Given the description of an element on the screen output the (x, y) to click on. 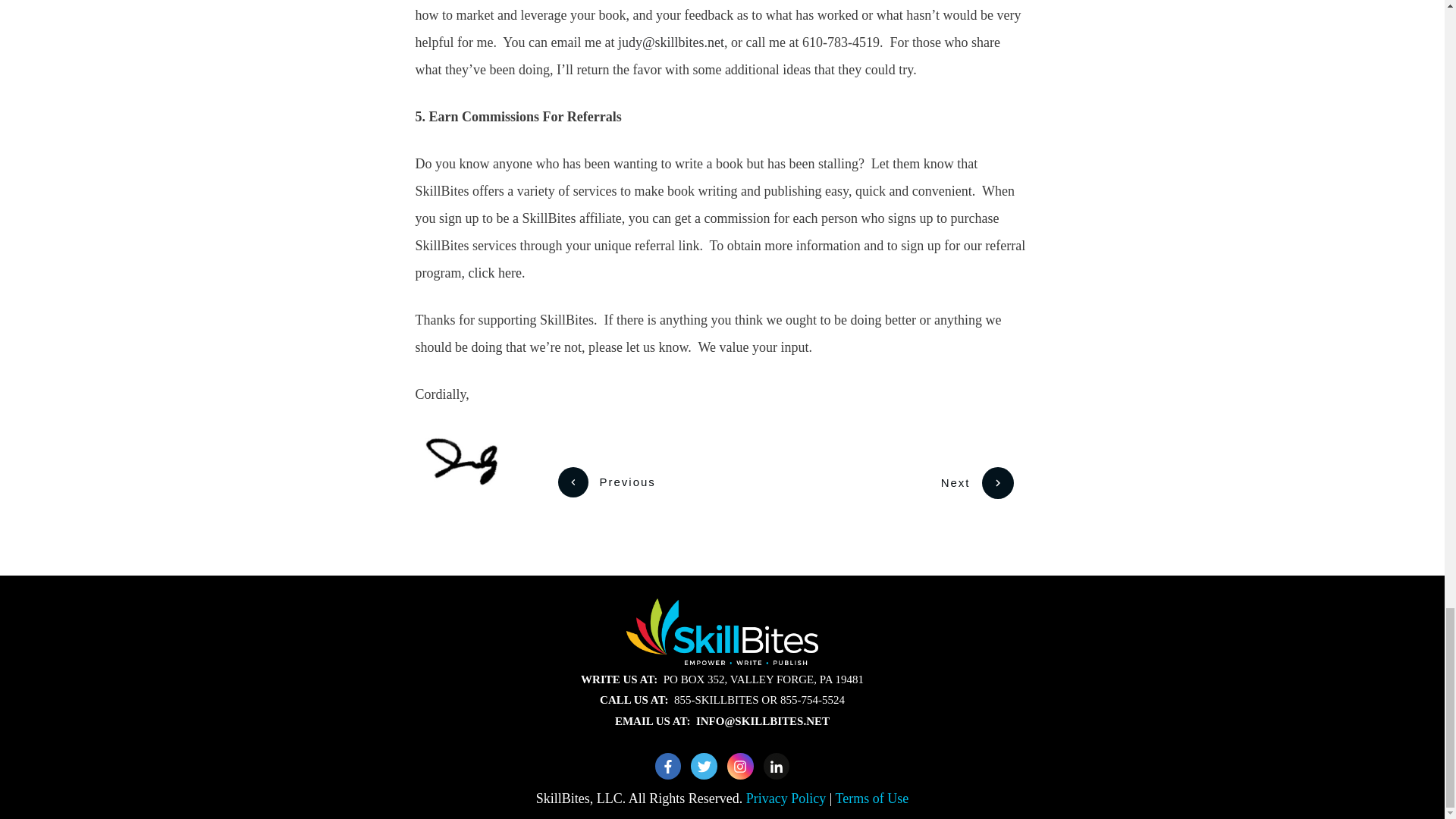
click here (494, 272)
logo (722, 631)
Next (976, 482)
Terms of Use (871, 798)
Previous (606, 481)
Privacy Policy  (787, 798)
